Given the description of an element on the screen output the (x, y) to click on. 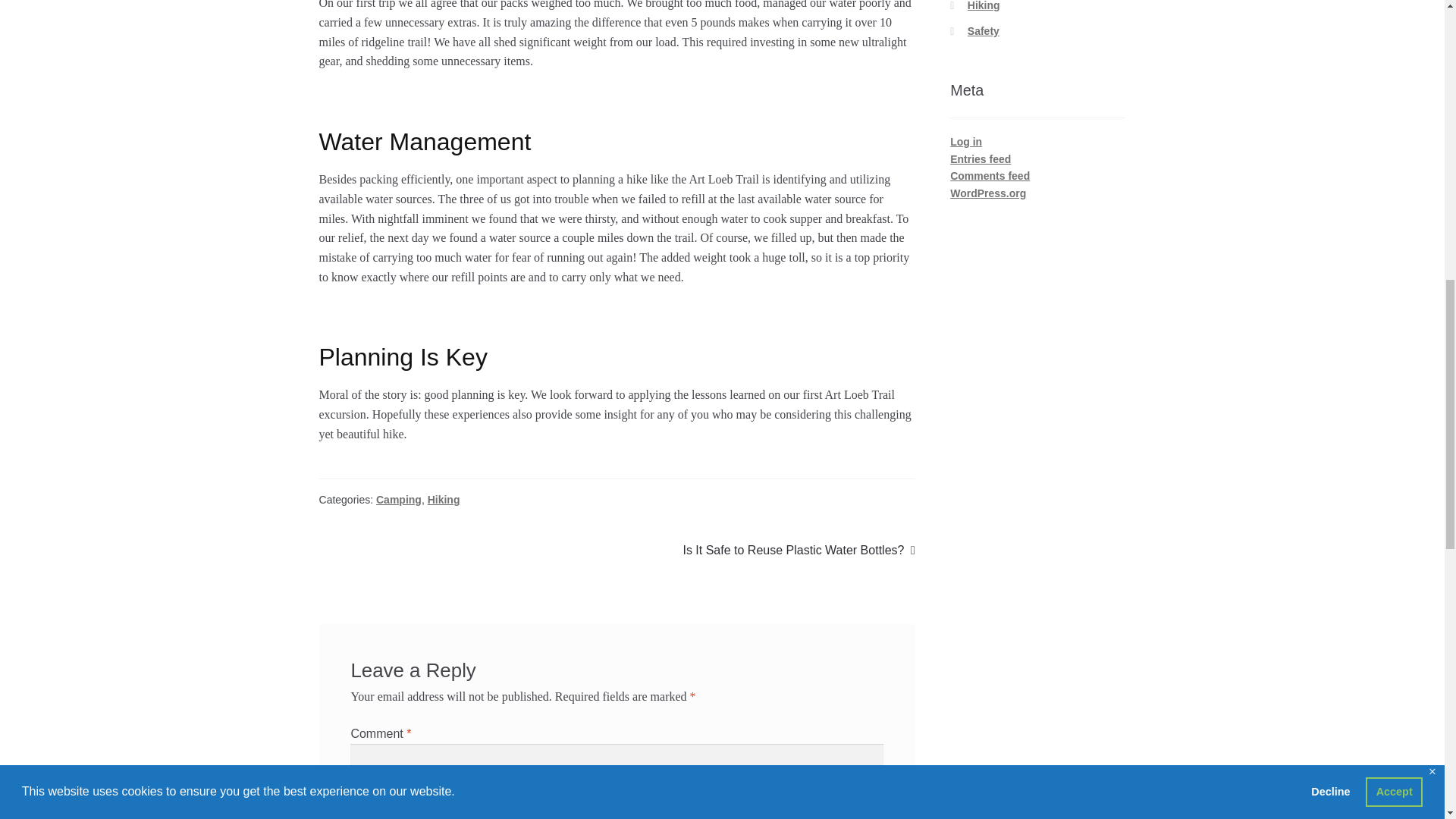
Safety (983, 30)
Hiking (444, 499)
Hiking (984, 5)
Camping (798, 550)
